Given the description of an element on the screen output the (x, y) to click on. 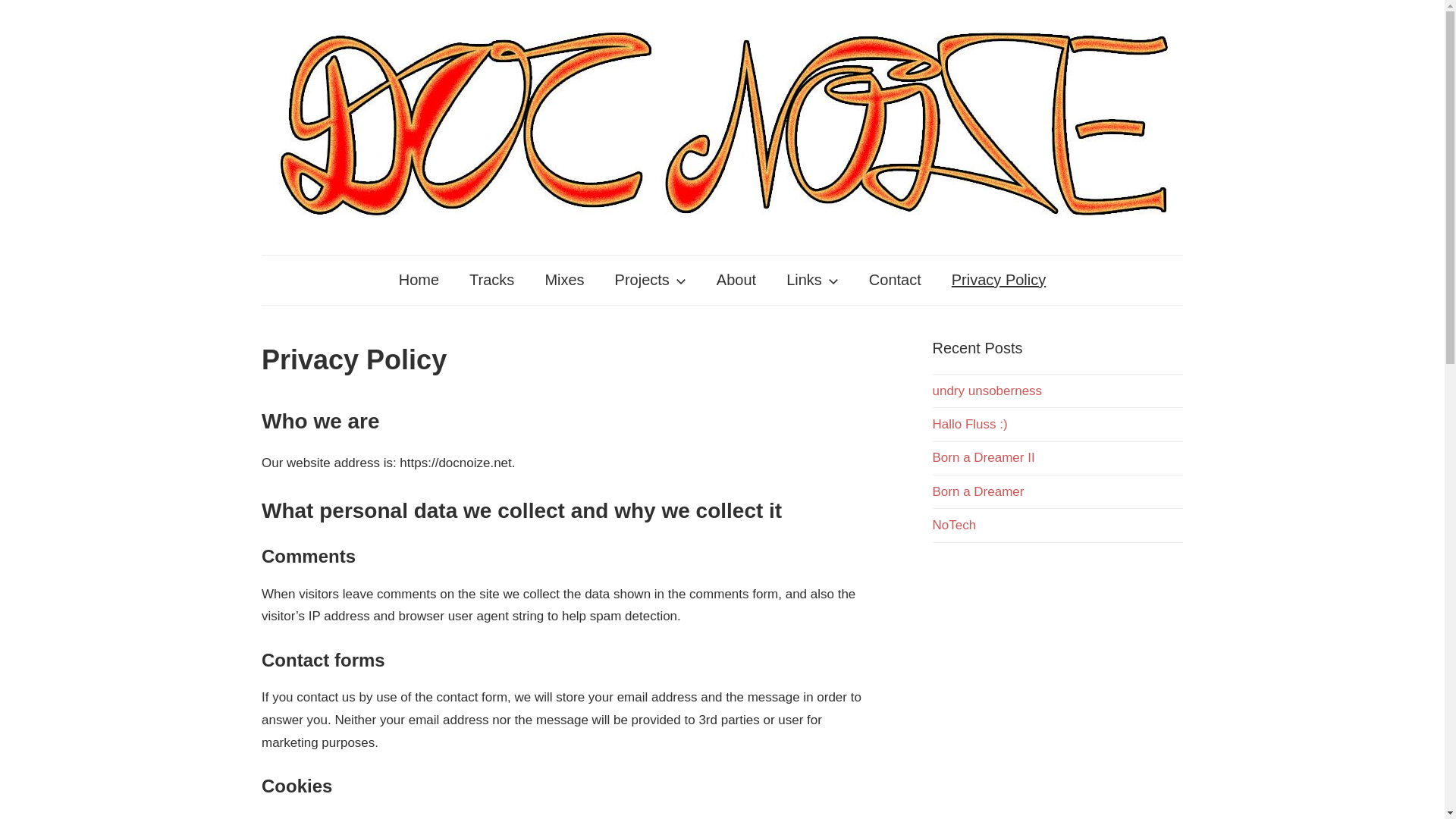
Mixes (563, 278)
Tracks (491, 278)
Projects (650, 278)
Contact (894, 278)
Born a Dreamer (979, 491)
Privacy Policy (998, 278)
NoTech (954, 524)
Home (419, 278)
undry unsoberness (987, 391)
About (736, 278)
Links (812, 278)
Born a Dreamer II (984, 457)
